Given the description of an element on the screen output the (x, y) to click on. 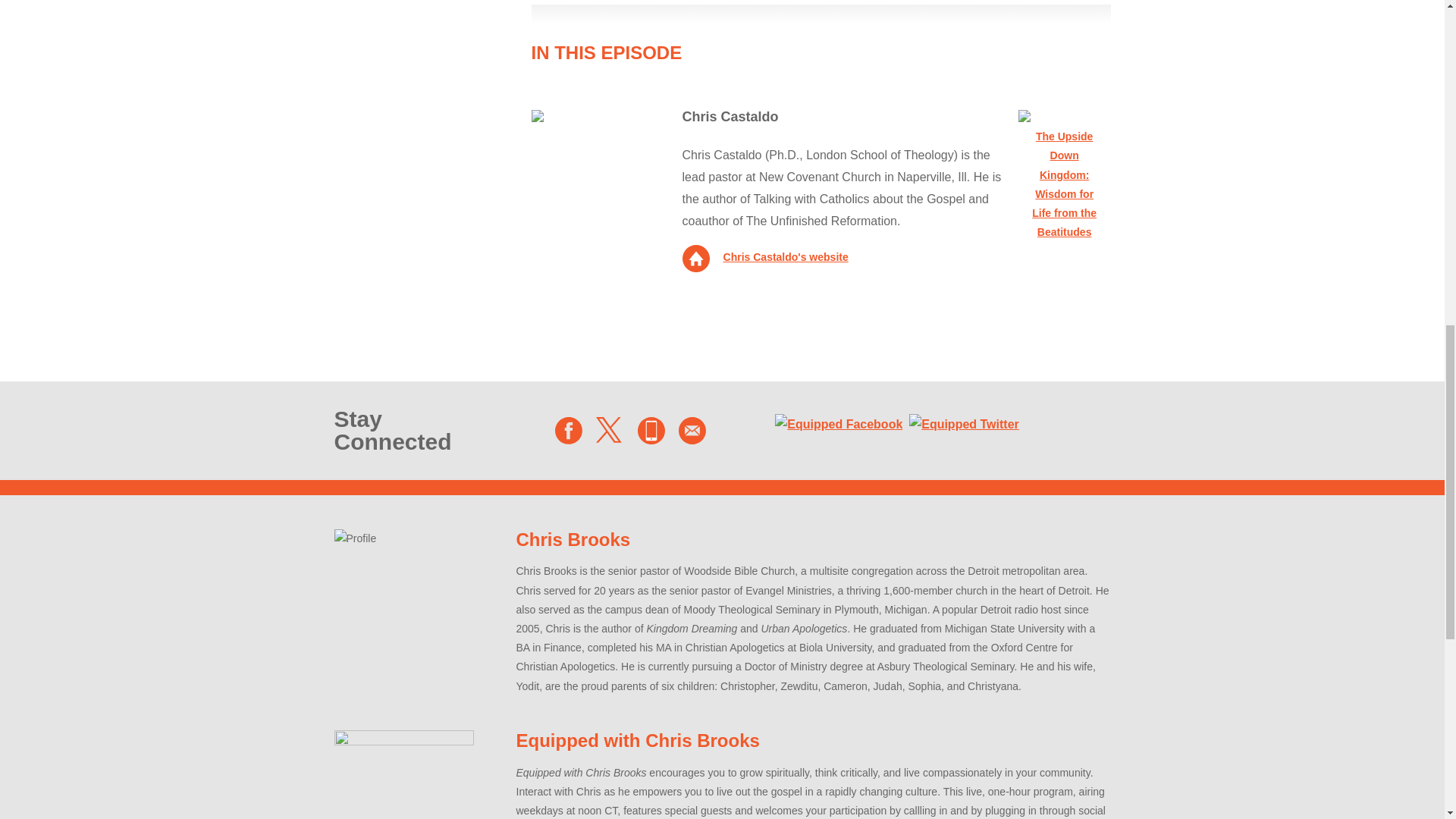
Equipped on Facebook (568, 430)
Chris Castaldo's website (765, 256)
Equipped Facebook (838, 424)
Moody Radio App (651, 430)
Equipped Facebook (838, 423)
